Given the description of an element on the screen output the (x, y) to click on. 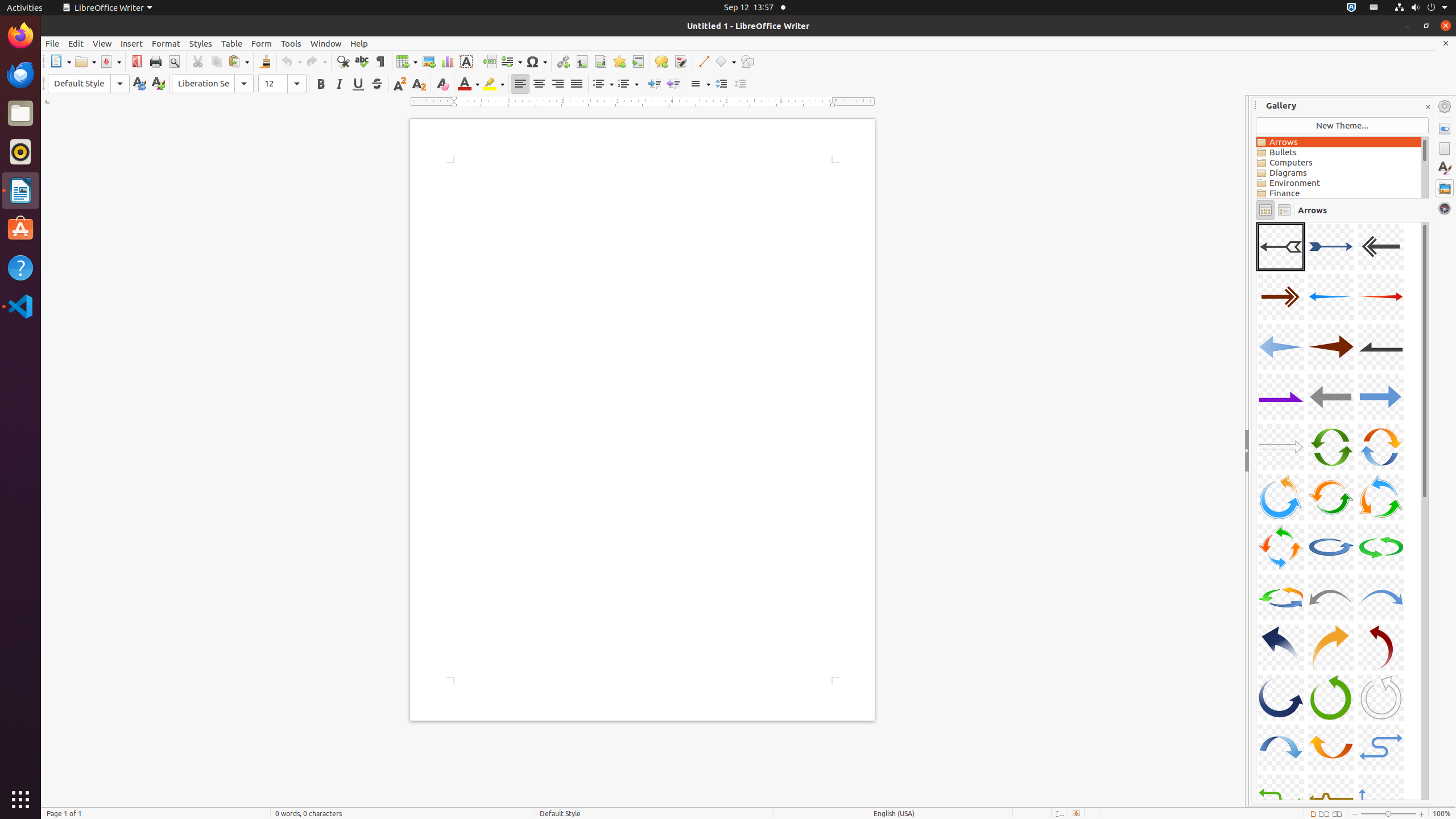
A20-CircleArrow-LightBlue Element type: list-item (1330, 546)
Table Element type: menu (231, 43)
Formatting Marks Element type: toggle-button (379, 61)
Horizontal Ruler Element type: ruler (642, 101)
Line Spacing Element type: push-button (699, 83)
